Given the description of an element on the screen output the (x, y) to click on. 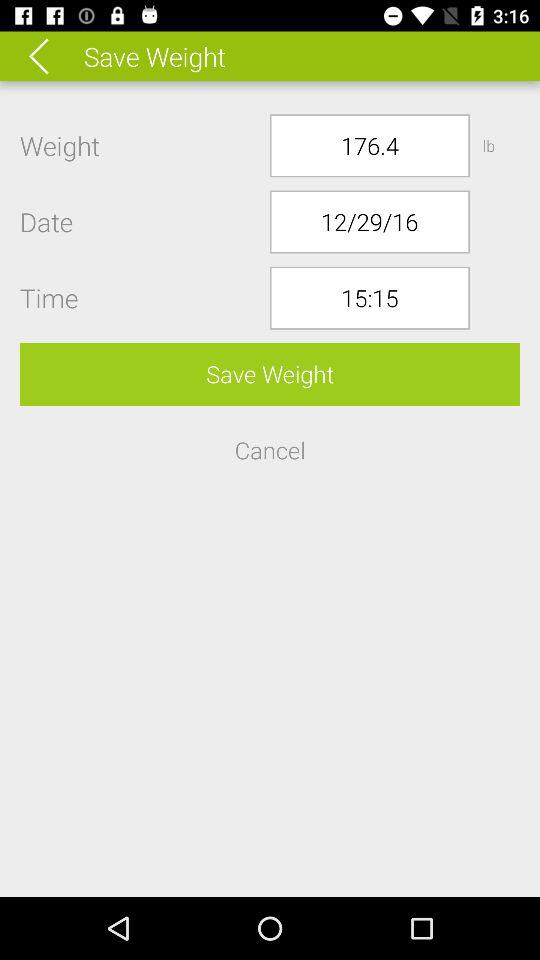
press 15:15 icon (369, 297)
